Given the description of an element on the screen output the (x, y) to click on. 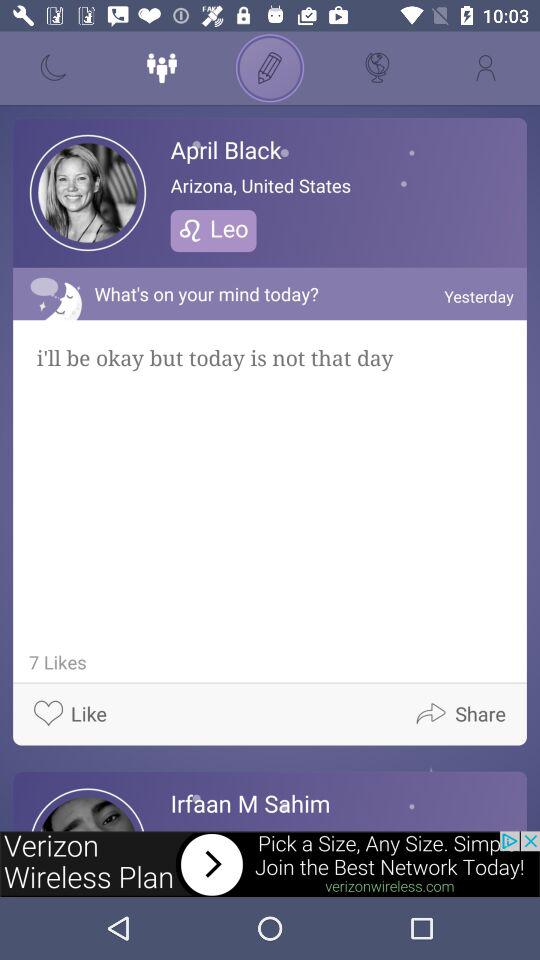
pencil (269, 68)
